Given the description of an element on the screen output the (x, y) to click on. 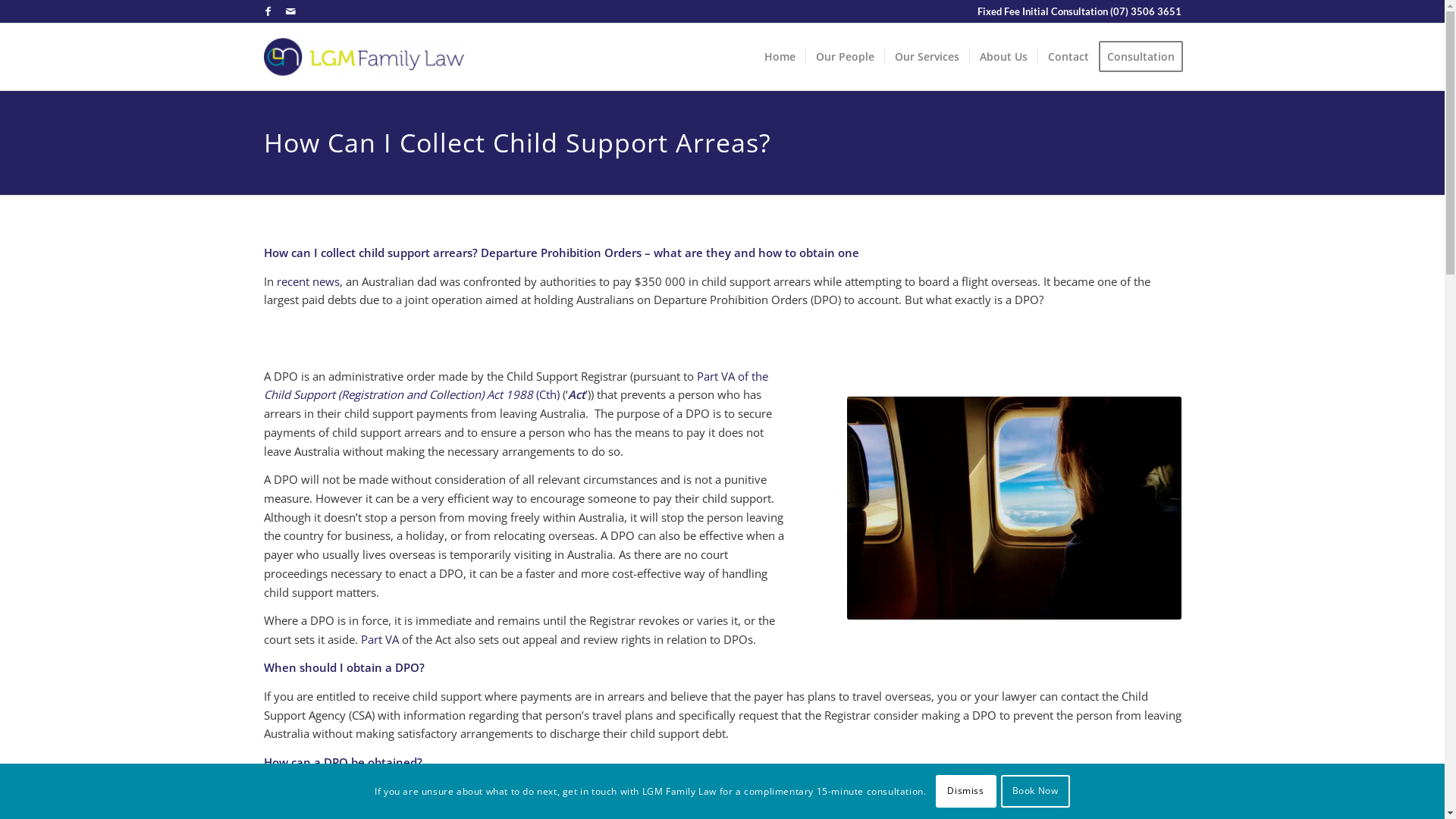
airport watchlist Element type: hover (1013, 507)
About Us Element type: text (1003, 56)
Home Element type: text (778, 56)
LGM-Family-Law-1 Element type: hover (363, 56)
recent news Element type: text (307, 280)
Our People Element type: text (844, 56)
Mail Element type: hover (290, 11)
Our Services Element type: text (926, 56)
(07) 3506 3651 Element type: text (1145, 11)
Book Now Element type: text (1035, 790)
Dismiss Element type: text (965, 790)
Consultation Element type: text (1145, 56)
Part VA Element type: text (379, 638)
Facebook Element type: hover (267, 11)
Contact Element type: text (1067, 56)
